Given the description of an element on the screen output the (x, y) to click on. 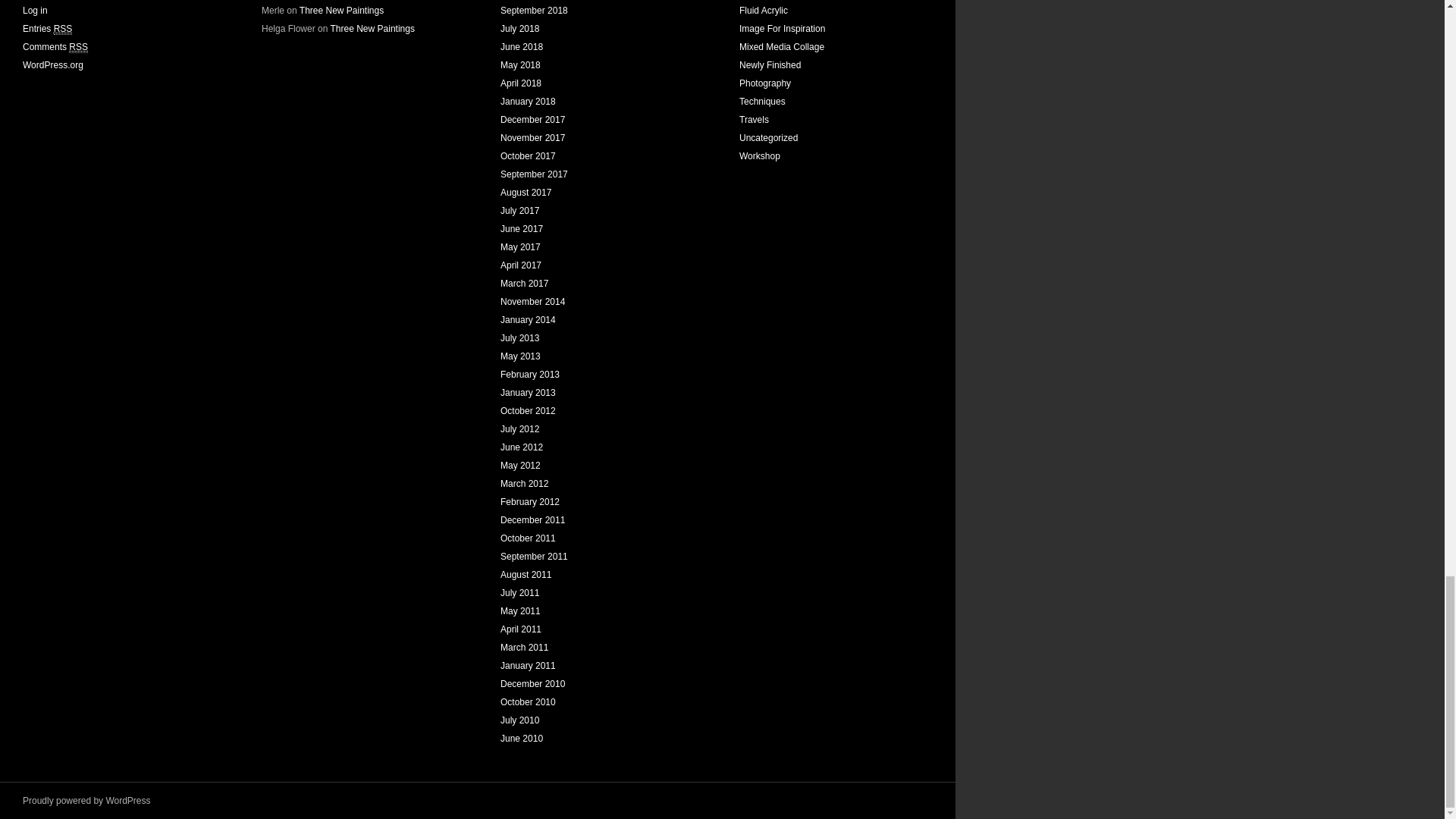
Really Simple Syndication (77, 47)
Really Simple Syndication (62, 29)
